Given the description of an element on the screen output the (x, y) to click on. 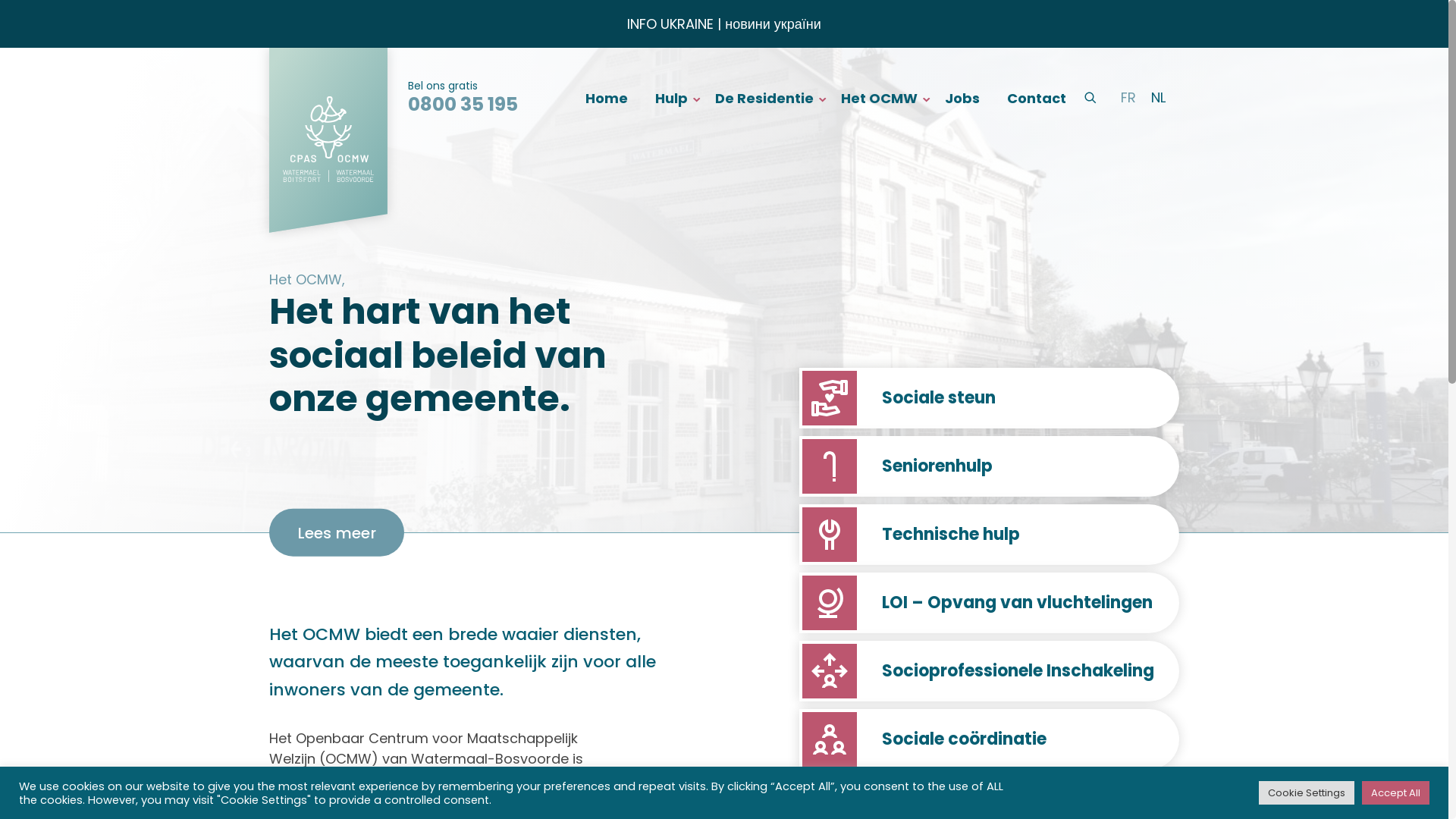
Lees meer Element type: text (336, 531)
Socioprofessionele Inschakeling Element type: text (989, 670)
Seniorenhulp Element type: text (989, 466)
NL Element type: text (1158, 97)
Technische hulp Element type: text (989, 534)
Hulp Element type: text (671, 96)
De Residentie Element type: text (764, 96)
Jobs Element type: text (961, 96)
Sociale steun Element type: text (989, 397)
Accept All Element type: text (1395, 792)
Home Element type: text (606, 96)
Cookie Settings Element type: text (1306, 792)
FR Element type: text (1128, 97)
Contact Element type: text (1036, 96)
Het OCMW Element type: text (878, 96)
0800 35 195 Element type: text (462, 104)
